Given the description of an element on the screen output the (x, y) to click on. 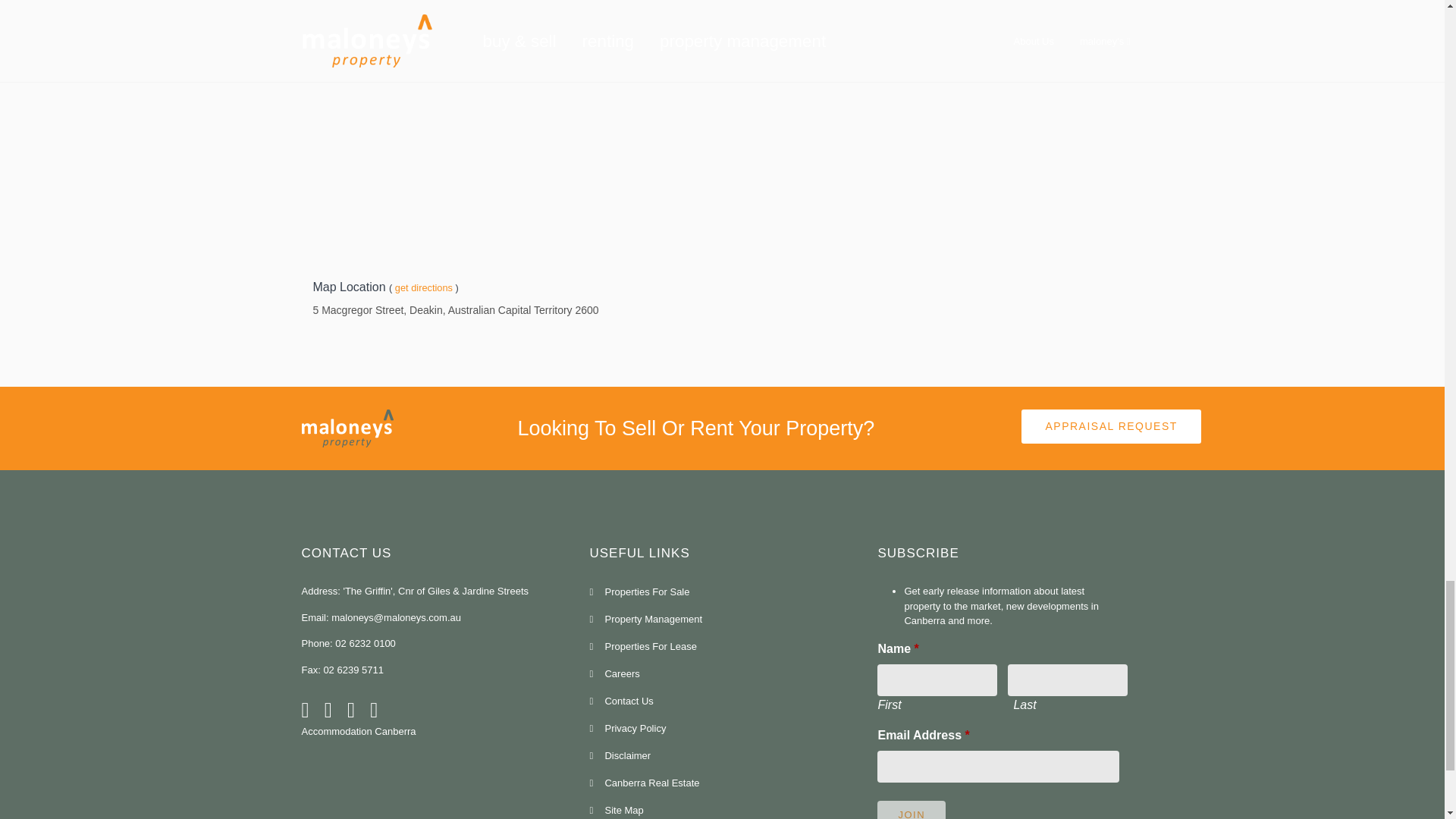
First Name (936, 680)
Email Address (997, 766)
Last Name (1066, 680)
